Given the description of an element on the screen output the (x, y) to click on. 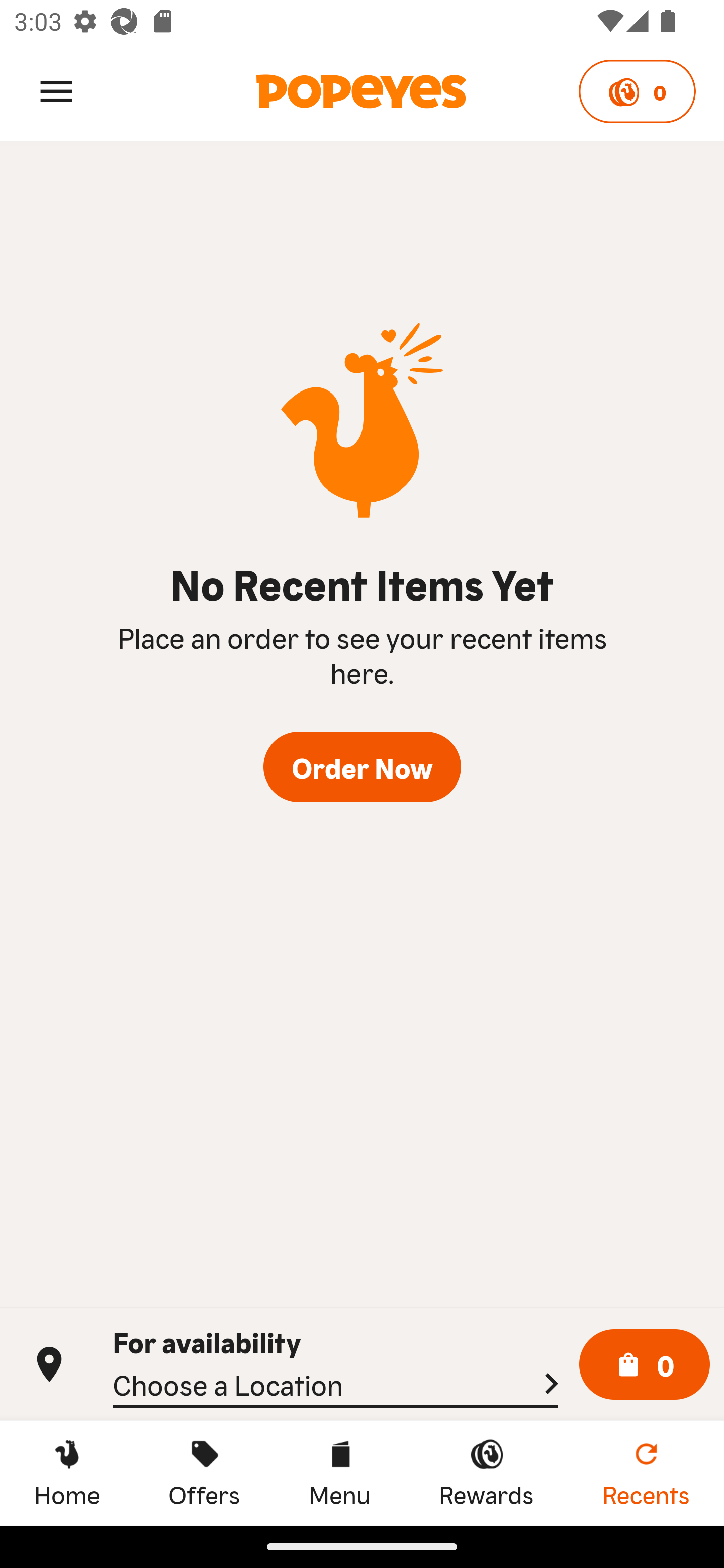
Menu  (56, 90)
0 Points 0 (636, 91)
Order Now (362, 767)
0 Cart total  0 (644, 1364)
Home Home Home (66, 1472)
Offers Offers Offers (203, 1472)
Menu Menu Menu (339, 1472)
Rewards Rewards Rewards (486, 1472)
